Given the description of an element on the screen output the (x, y) to click on. 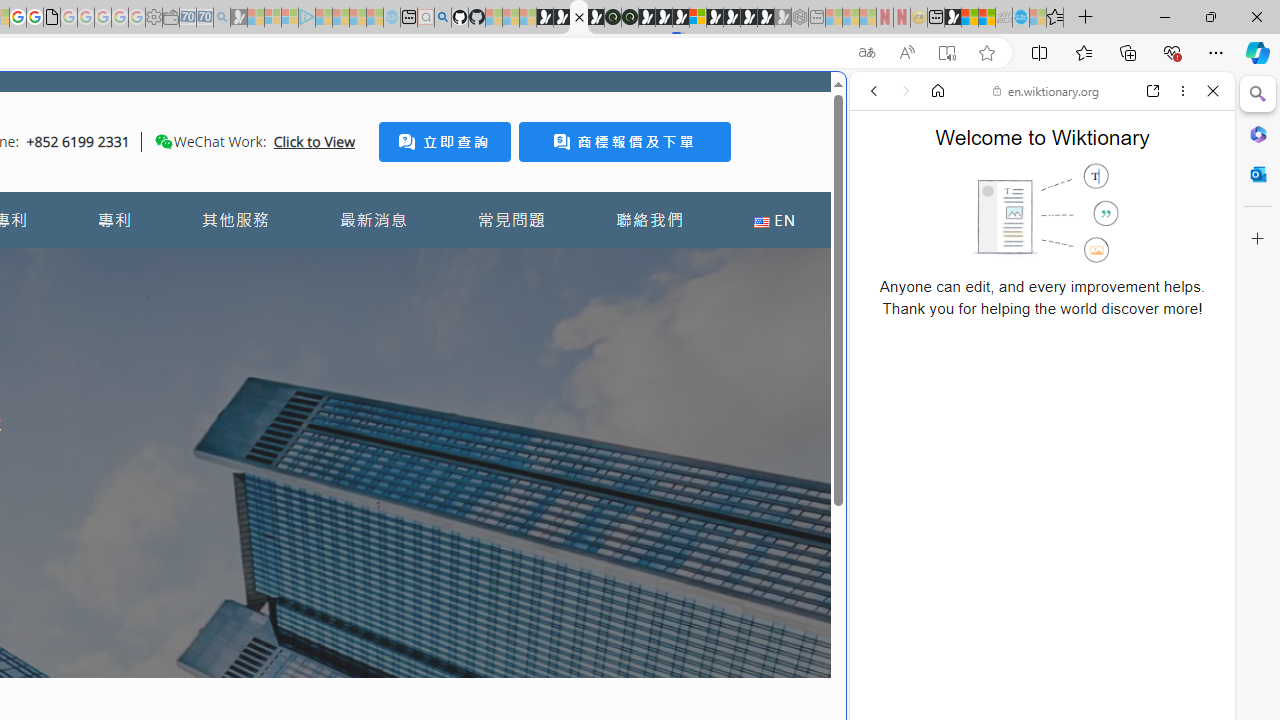
Wallet - Sleeping (170, 17)
Services - Maintenance | Sky Blue Bikes - Sky Blue Bikes (1020, 17)
Play Zoo Boom in your browser | Games from Microsoft Start (561, 17)
Home | Sky Blue Bikes - Sky Blue Bikes - Sleeping (392, 17)
Class: desktop (163, 141)
Play Cave FRVR in your browser | Games from Microsoft Start (663, 17)
